Given the description of an element on the screen output the (x, y) to click on. 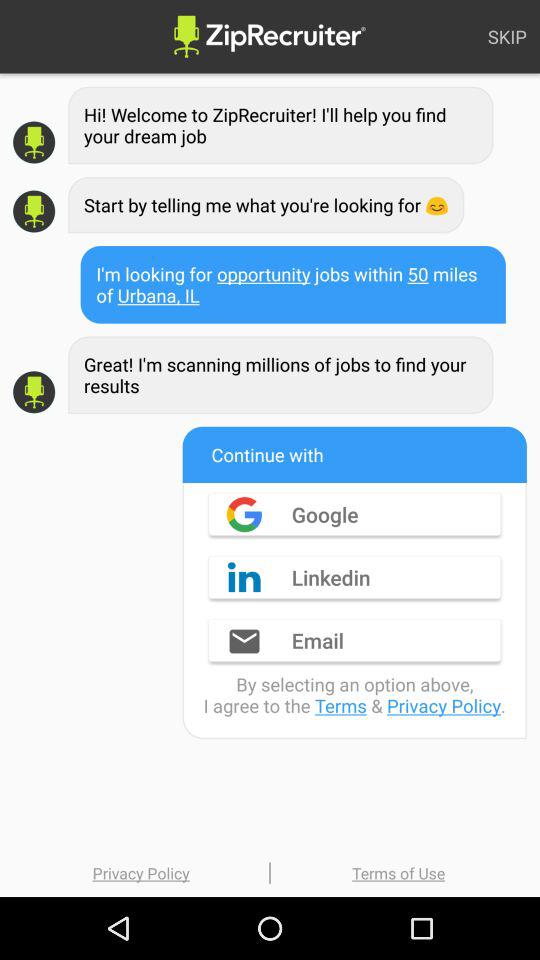
open terms of use icon (398, 872)
